Given the description of an element on the screen output the (x, y) to click on. 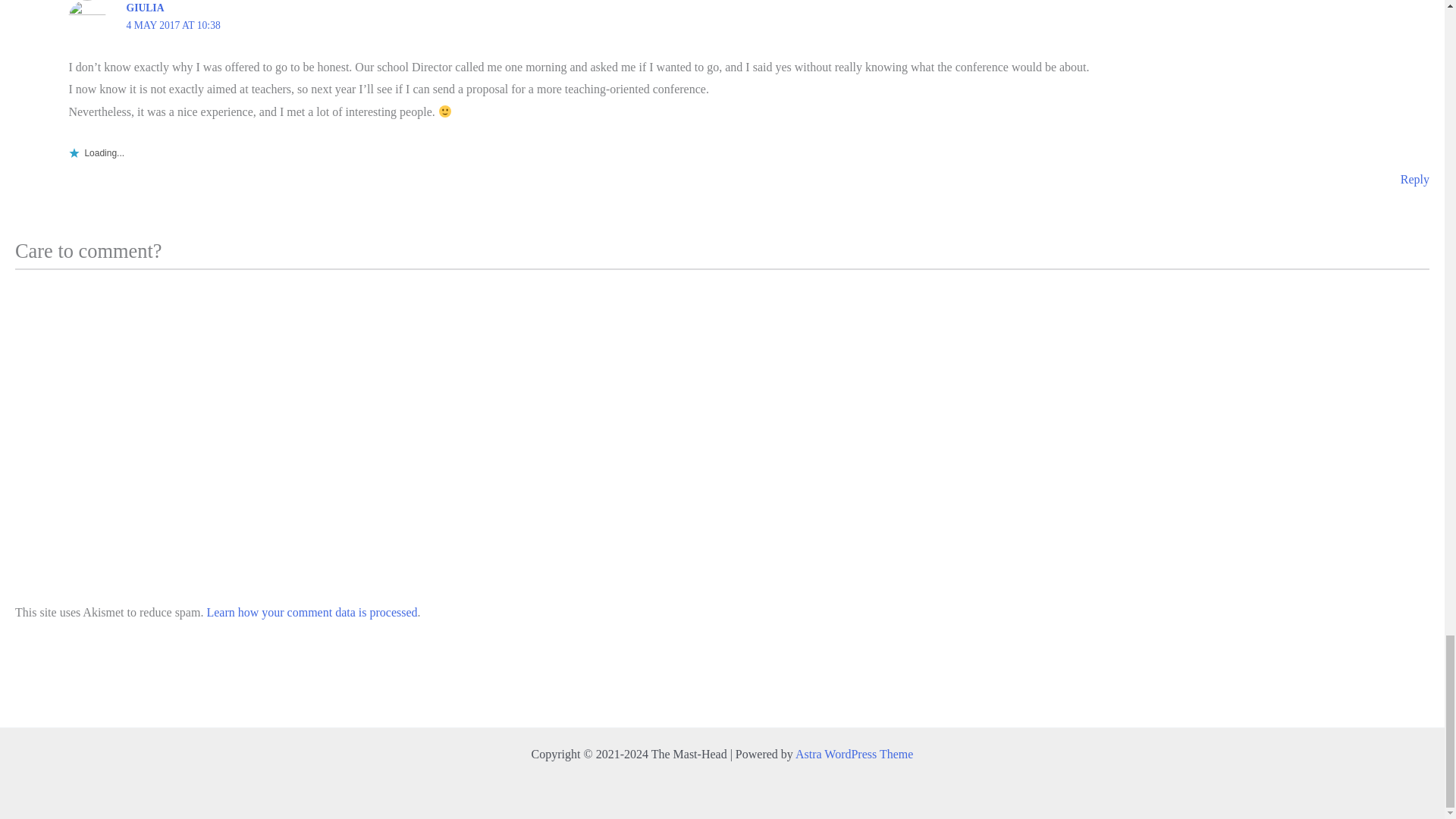
GIULIA (145, 7)
4 MAY 2017 AT 10:38 (173, 25)
Reply (1414, 178)
